Given the description of an element on the screen output the (x, y) to click on. 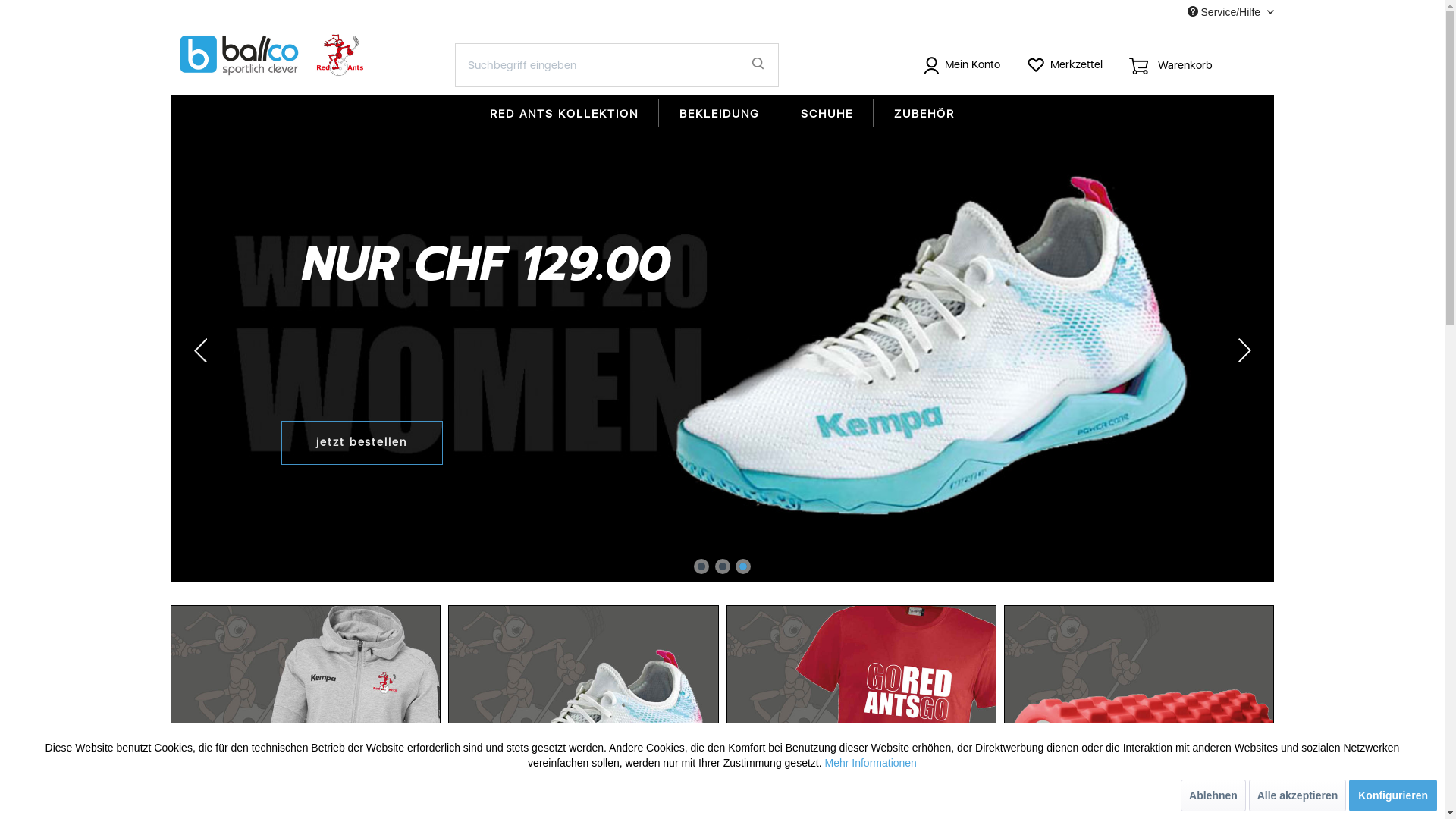
STATUS entdecken Element type: text (361, 442)
Ballco Shop Red Ants - zur Startseite wechseln Element type: hover (273, 55)
RED ANTS KOLLEKTION Element type: text (563, 113)
Konfigurieren Element type: text (1393, 795)
Merkzettel Element type: text (1065, 69)
Warenkorb Element type: text (1173, 69)
BEKLEIDUNG Element type: text (719, 113)
SCHUHE Element type: text (826, 113)
Mein Konto Element type: text (962, 69)
Mehr Informationen Element type: text (870, 762)
Alle akzeptieren Element type: text (1297, 795)
Ablehnen Element type: text (1212, 795)
